Given the description of an element on the screen output the (x, y) to click on. 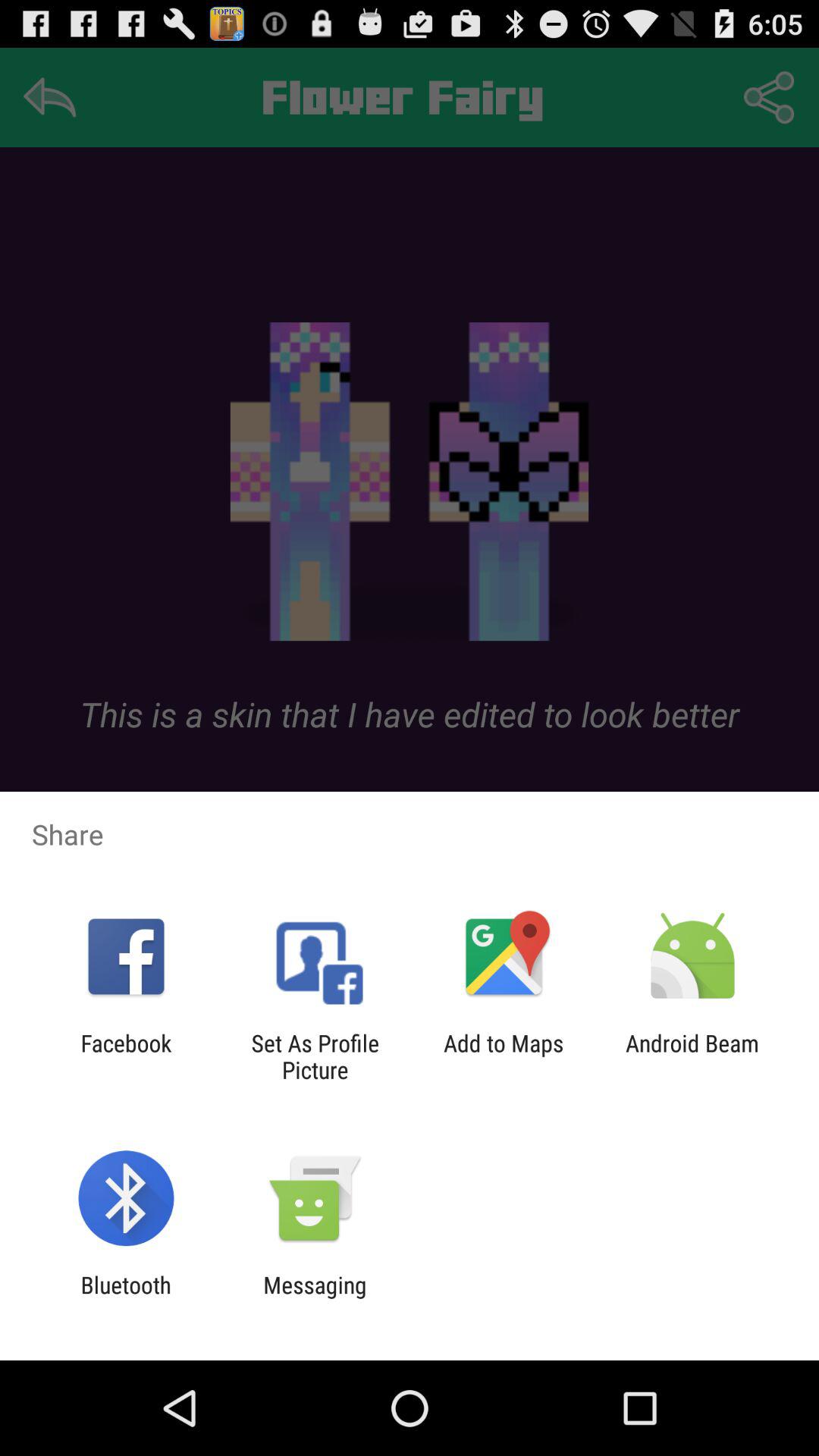
tap item next to the bluetooth item (314, 1298)
